Given the description of an element on the screen output the (x, y) to click on. 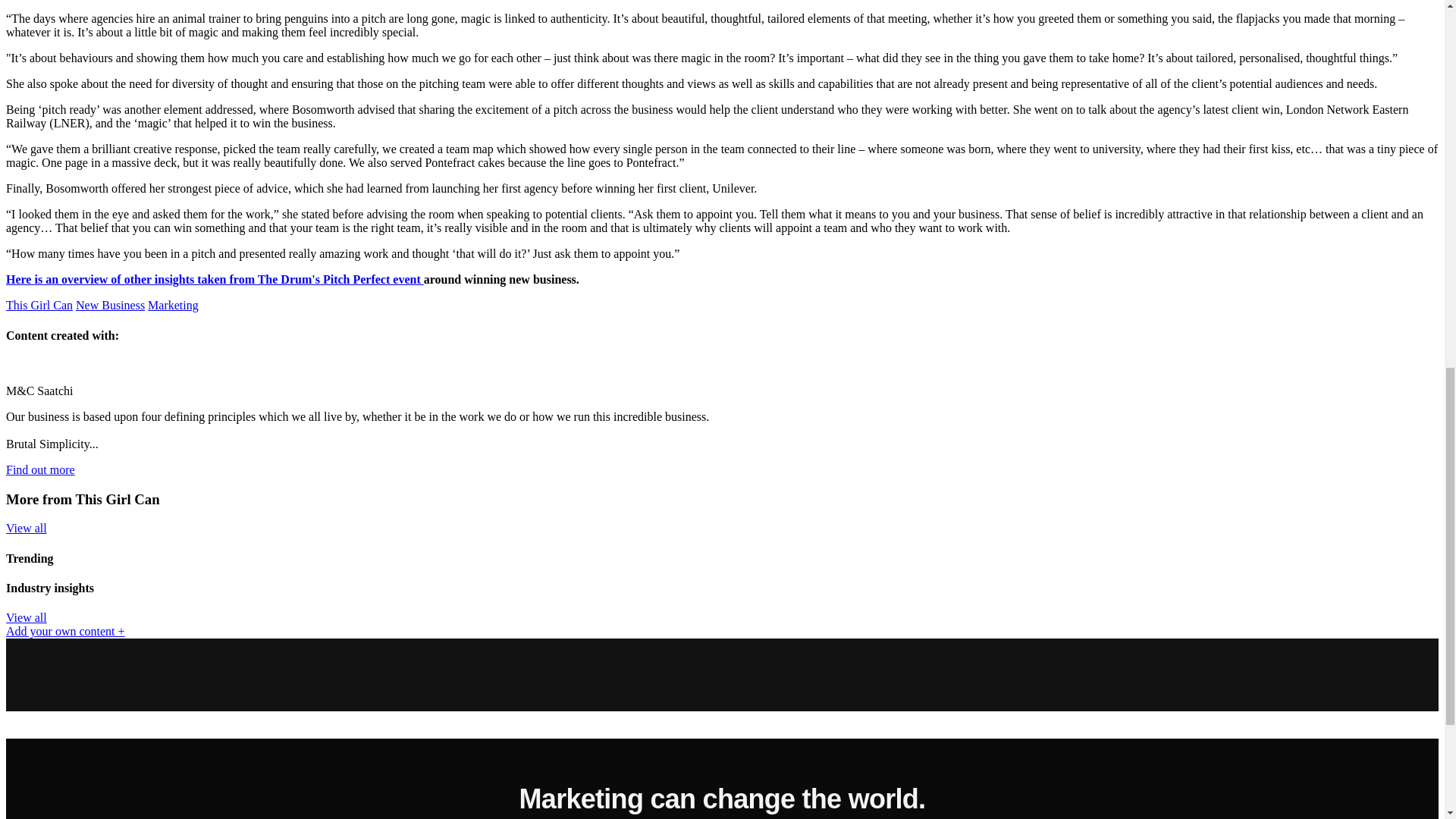
Marketing (173, 305)
This Girl Can (38, 305)
View all (25, 617)
View all (25, 527)
New Business (109, 305)
Find out more (40, 469)
